Given the description of an element on the screen output the (x, y) to click on. 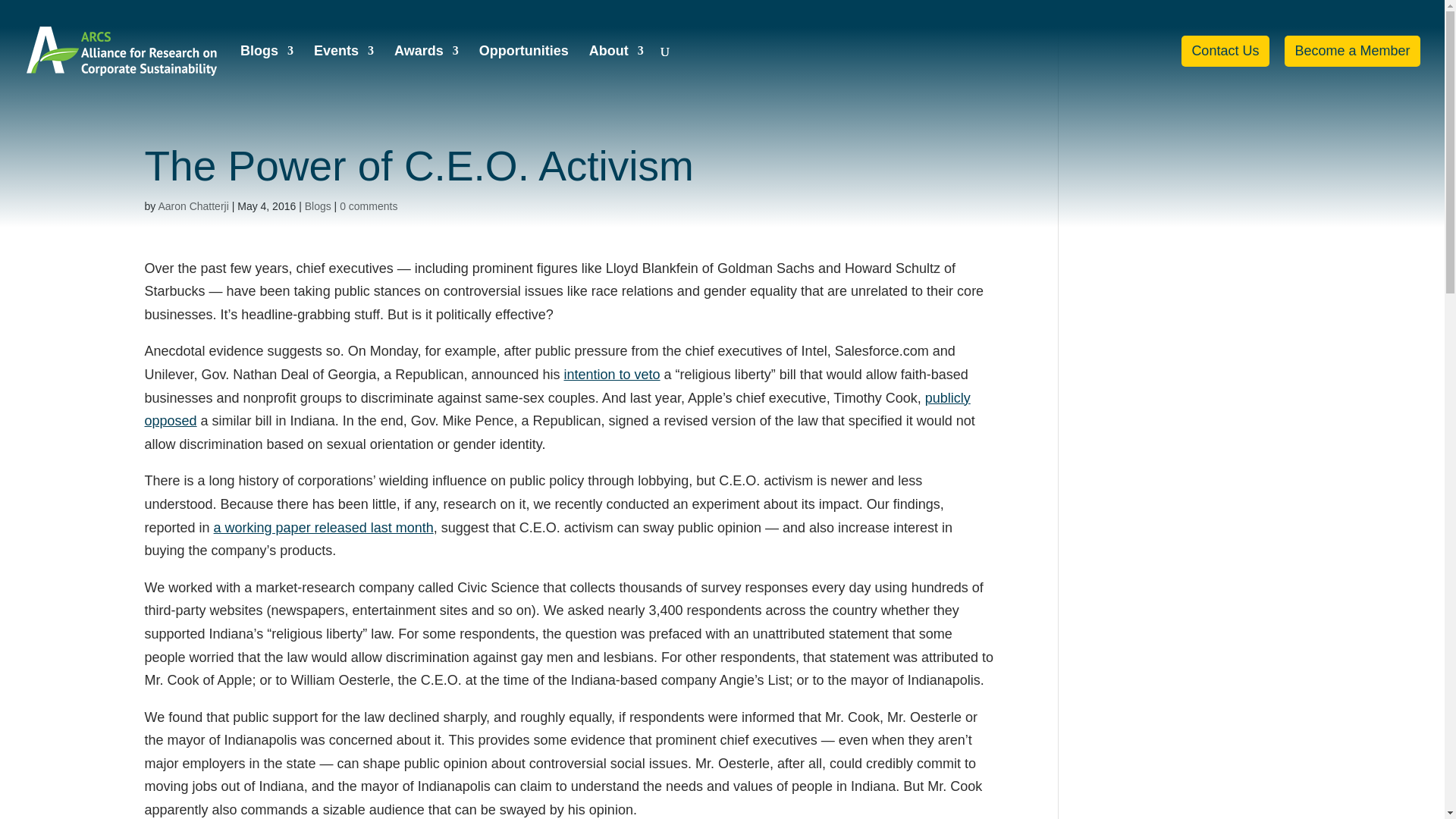
Posts by Aaron Chatterji (192, 205)
Awards (426, 73)
Opportunities (524, 73)
Events (344, 73)
About (616, 73)
Blogs (267, 73)
